Given the description of an element on the screen output the (x, y) to click on. 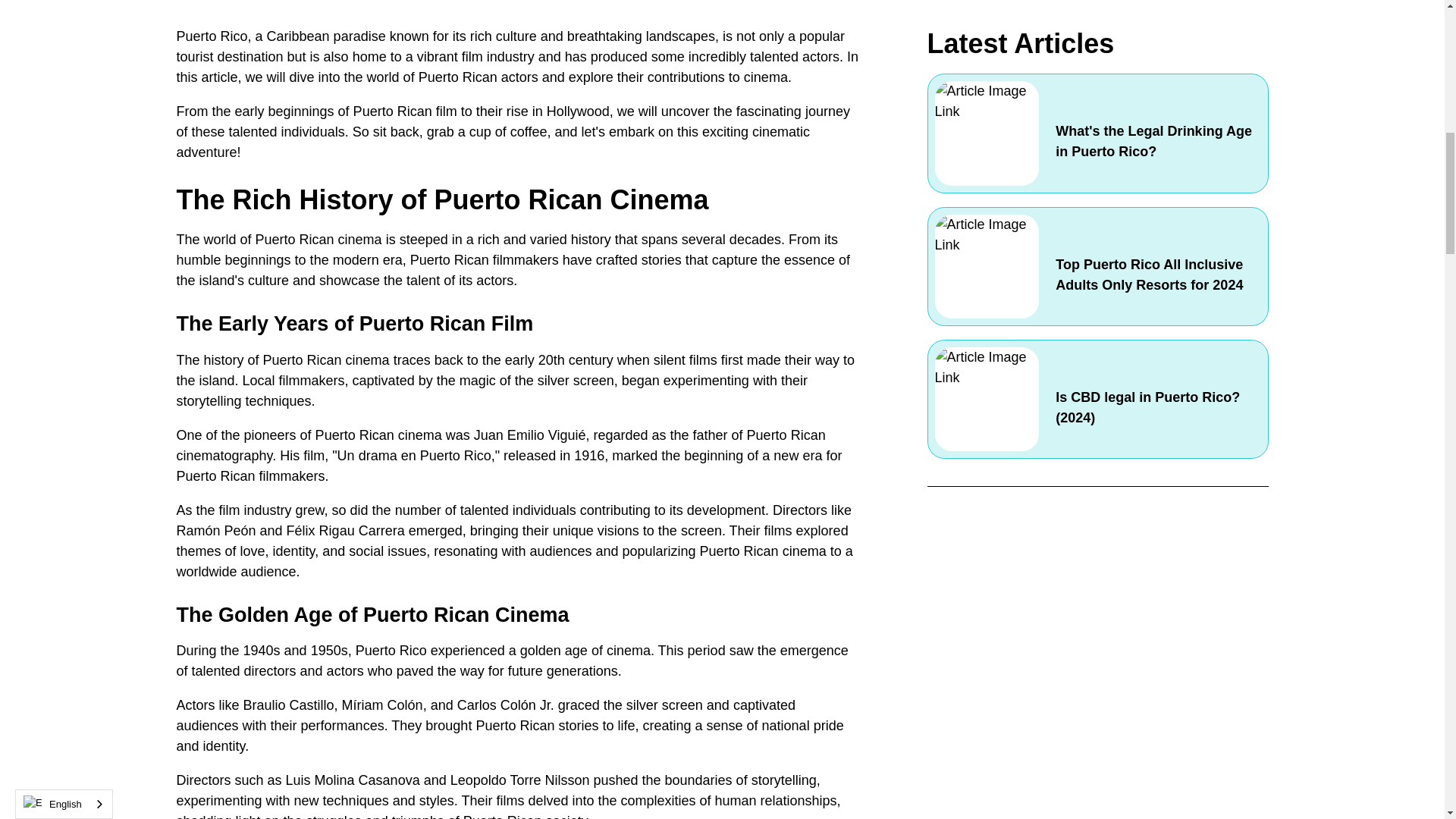
traces back to the early 20th century (502, 359)
Braulio Castillo (288, 704)
Luis Molina Casanova (352, 780)
